Given the description of an element on the screen output the (x, y) to click on. 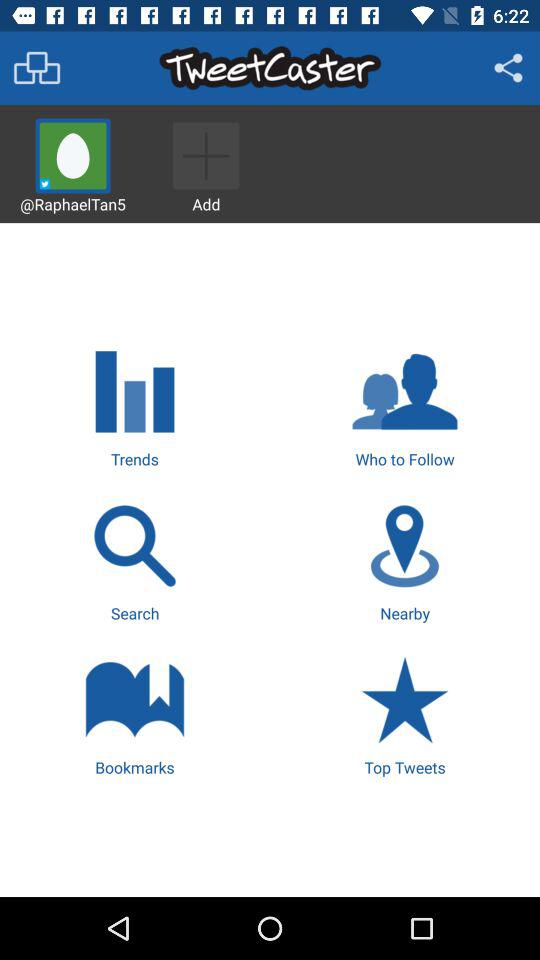
tap icon at the bottom left corner (134, 714)
